Given the description of an element on the screen output the (x, y) to click on. 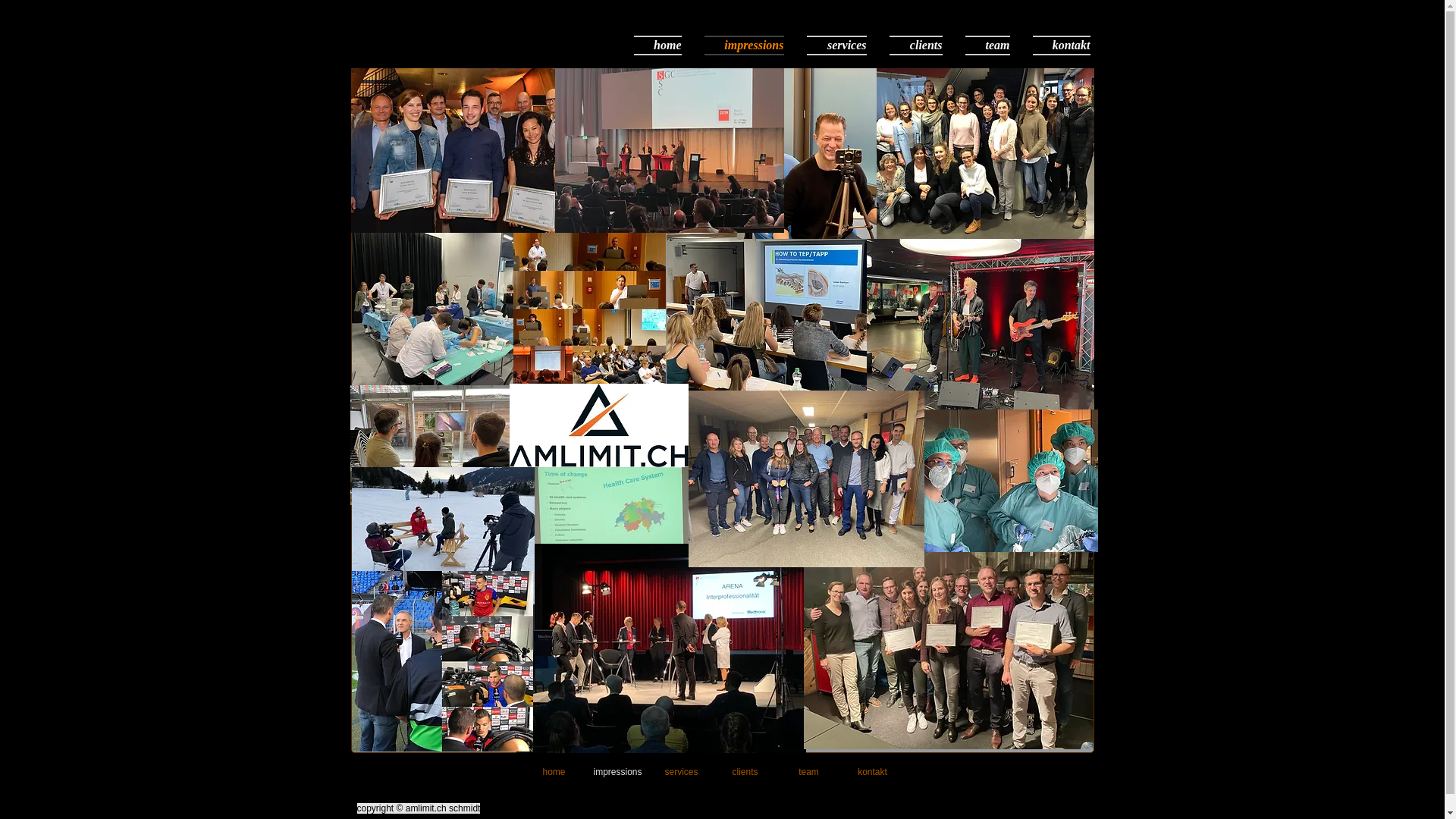
impressions Element type: text (617, 771)
kontakt Element type: text (1054, 44)
IMG_5011.jpeg Element type: hover (581, 540)
services Element type: text (680, 771)
IMG_4754.jpeg Element type: hover (453, 308)
IMG_5667.jpeg Element type: hover (1003, 480)
home Element type: text (553, 771)
IMG_2002.jpeg Element type: hover (985, 153)
amlimit.ch.jpg Element type: hover (598, 425)
IMG_3273.jpeg Element type: hover (669, 150)
IMG_0026.jpg Element type: hover (473, 150)
IMG_6676.jpeg Element type: hover (770, 311)
82547758-5D23-4C95-B0BA-F9A788616731.jpg Element type: hover (442, 661)
impressions Element type: text (744, 44)
services Element type: text (835, 44)
clients Element type: text (744, 771)
team Element type: text (808, 771)
IMG_1257.jpeg Element type: hover (806, 478)
kontakt Element type: text (871, 771)
IMG_5394.jpeg Element type: hover (442, 535)
team Element type: text (987, 44)
IMG_5050.jpeg Element type: hover (588, 308)
clients Element type: text (915, 44)
IMG_4409.jpeg Element type: hover (948, 650)
IMG_5728.jpeg Element type: hover (429, 445)
IMG_8230_edited.jpg Element type: hover (810, 153)
home Element type: text (663, 44)
IMG_3148.jpeg Element type: hover (979, 323)
IMG_0593.jpeg Element type: hover (660, 652)
